Given the description of an element on the screen output the (x, y) to click on. 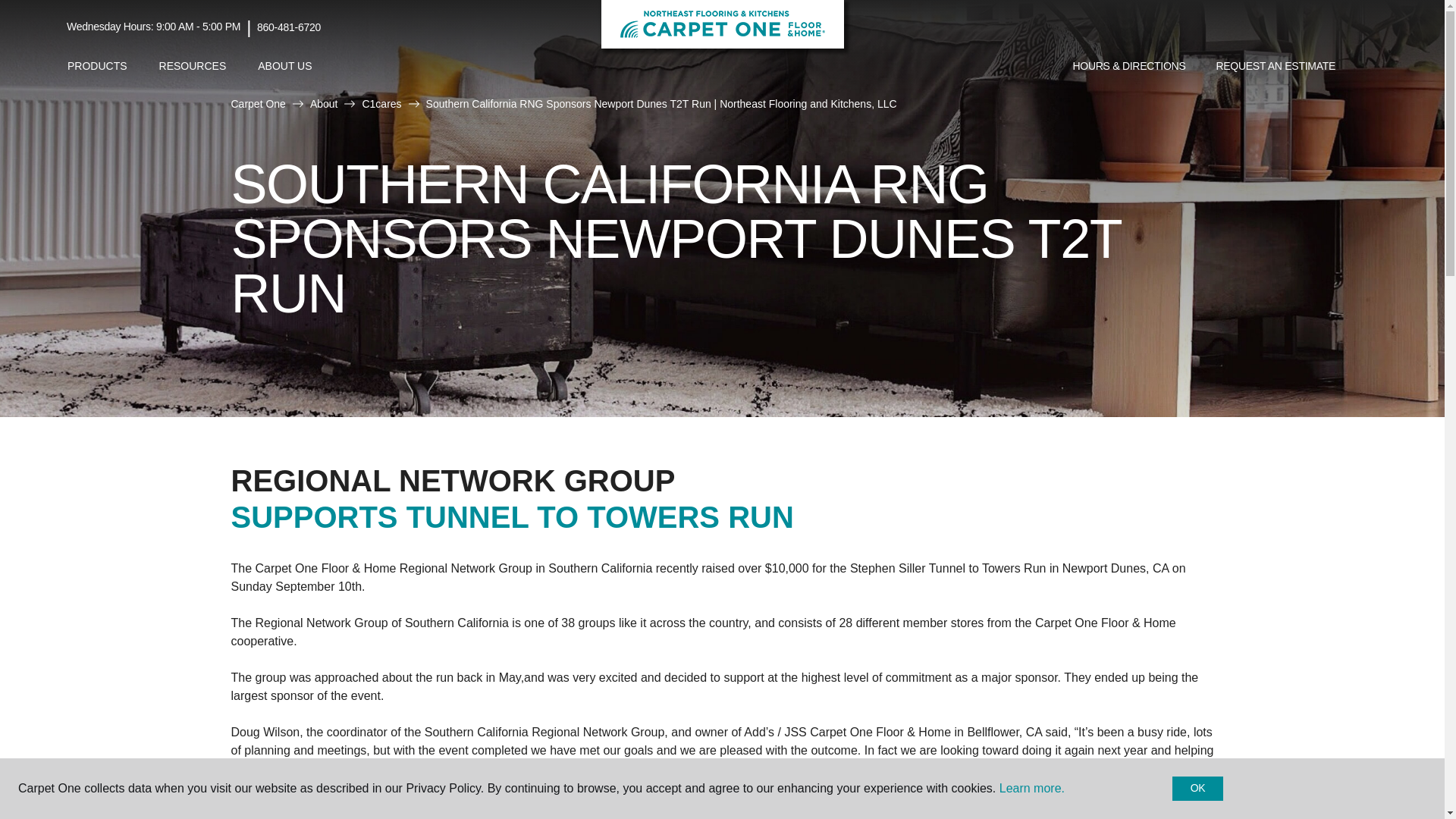
PRODUCTS (97, 66)
ABOUT US (284, 66)
RESOURCES (193, 66)
REQUEST AN ESTIMATE (1276, 66)
860-481-6720 (288, 27)
